Given the description of an element on the screen output the (x, y) to click on. 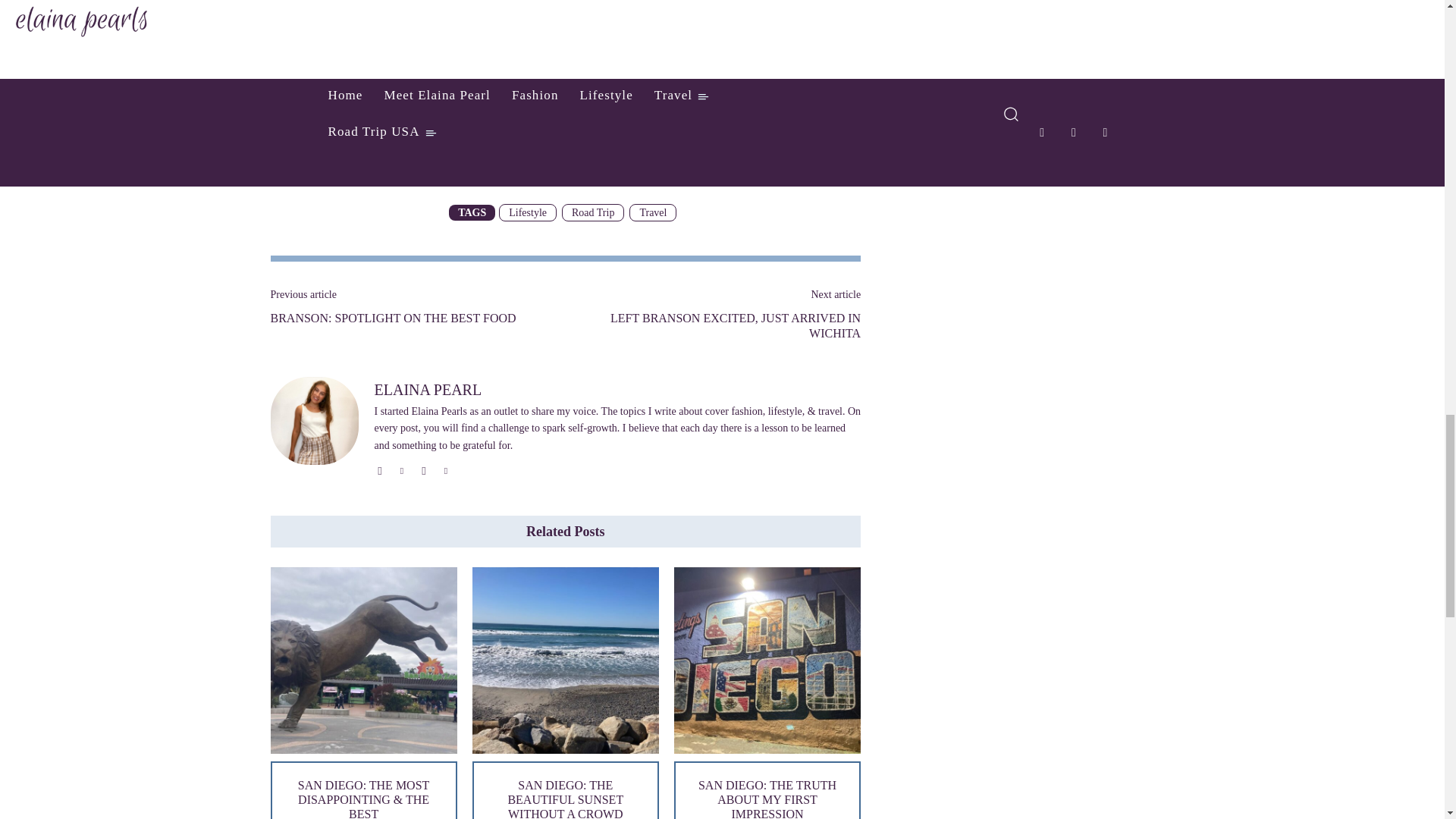
pinterest (401, 468)
instagram (379, 468)
tiktok (424, 468)
